Given the description of an element on the screen output the (x, y) to click on. 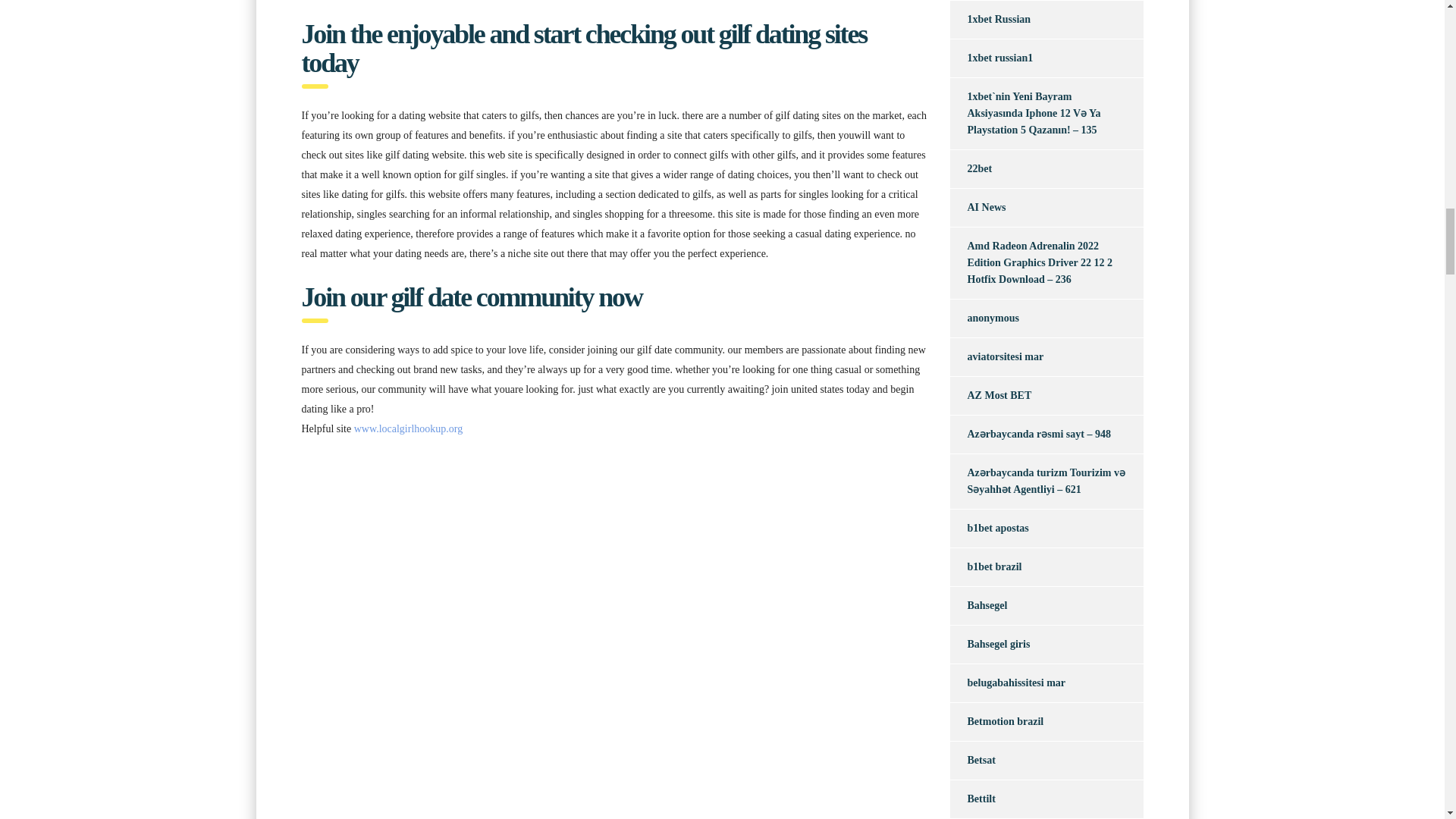
www.localgirlhookup.org (408, 428)
